Given the description of an element on the screen output the (x, y) to click on. 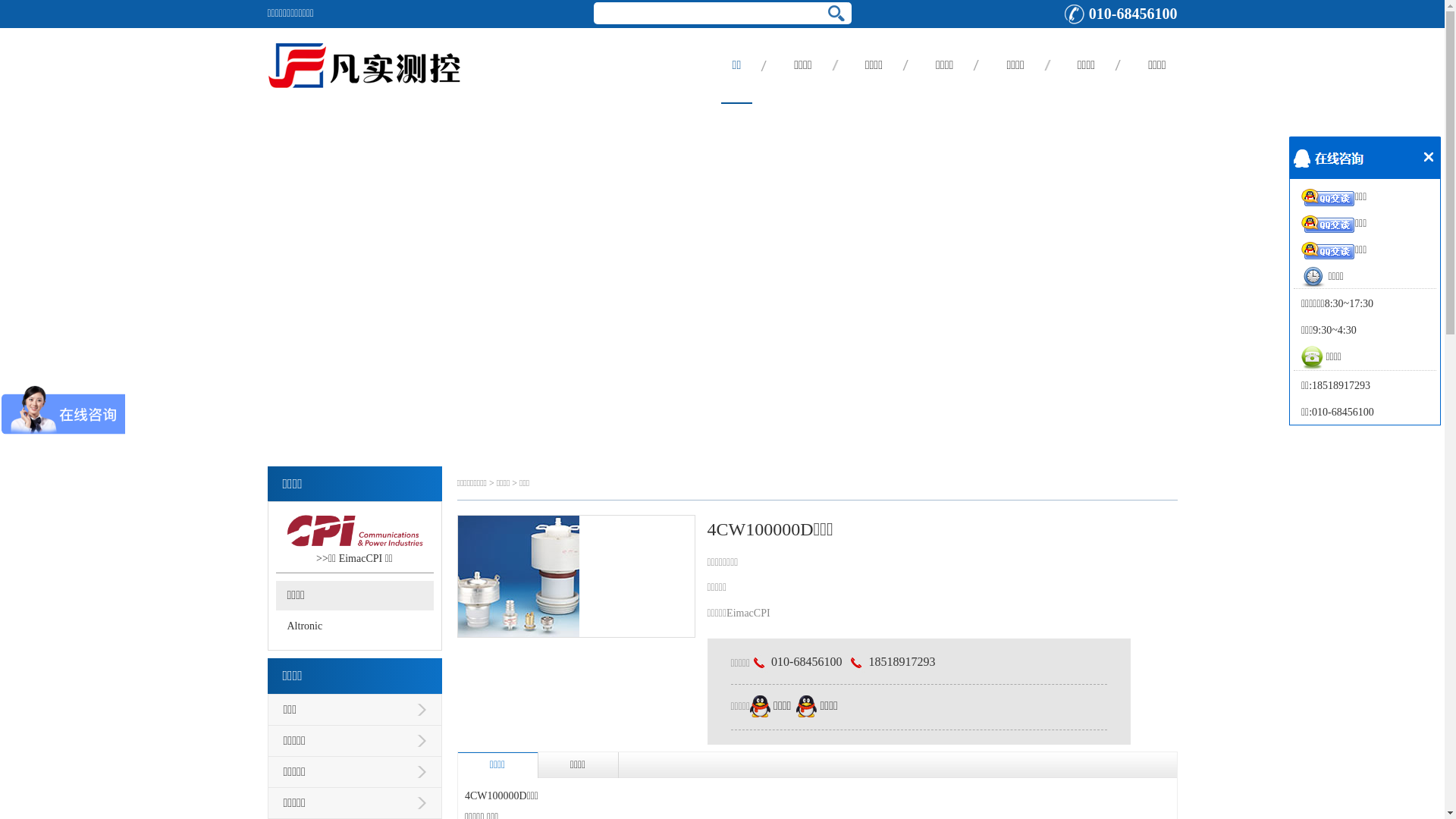
010-68456100 Element type: text (795, 661)
Altronic Element type: text (304, 625)
18518917293 Element type: text (891, 661)
EimacCPI Element type: text (360, 558)
